Given the description of an element on the screen output the (x, y) to click on. 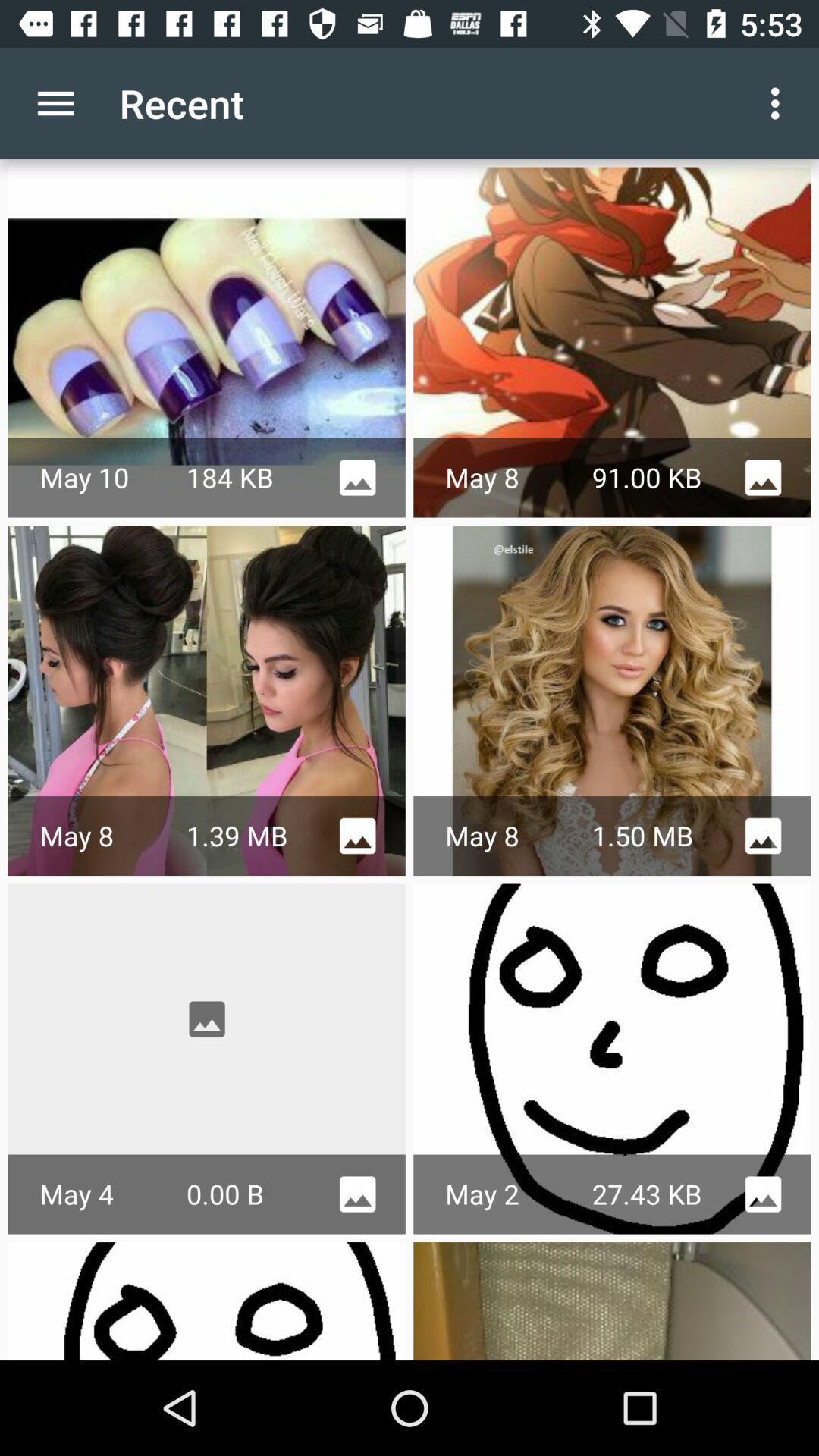
click icon to the left of recent app (55, 103)
